Given the description of an element on the screen output the (x, y) to click on. 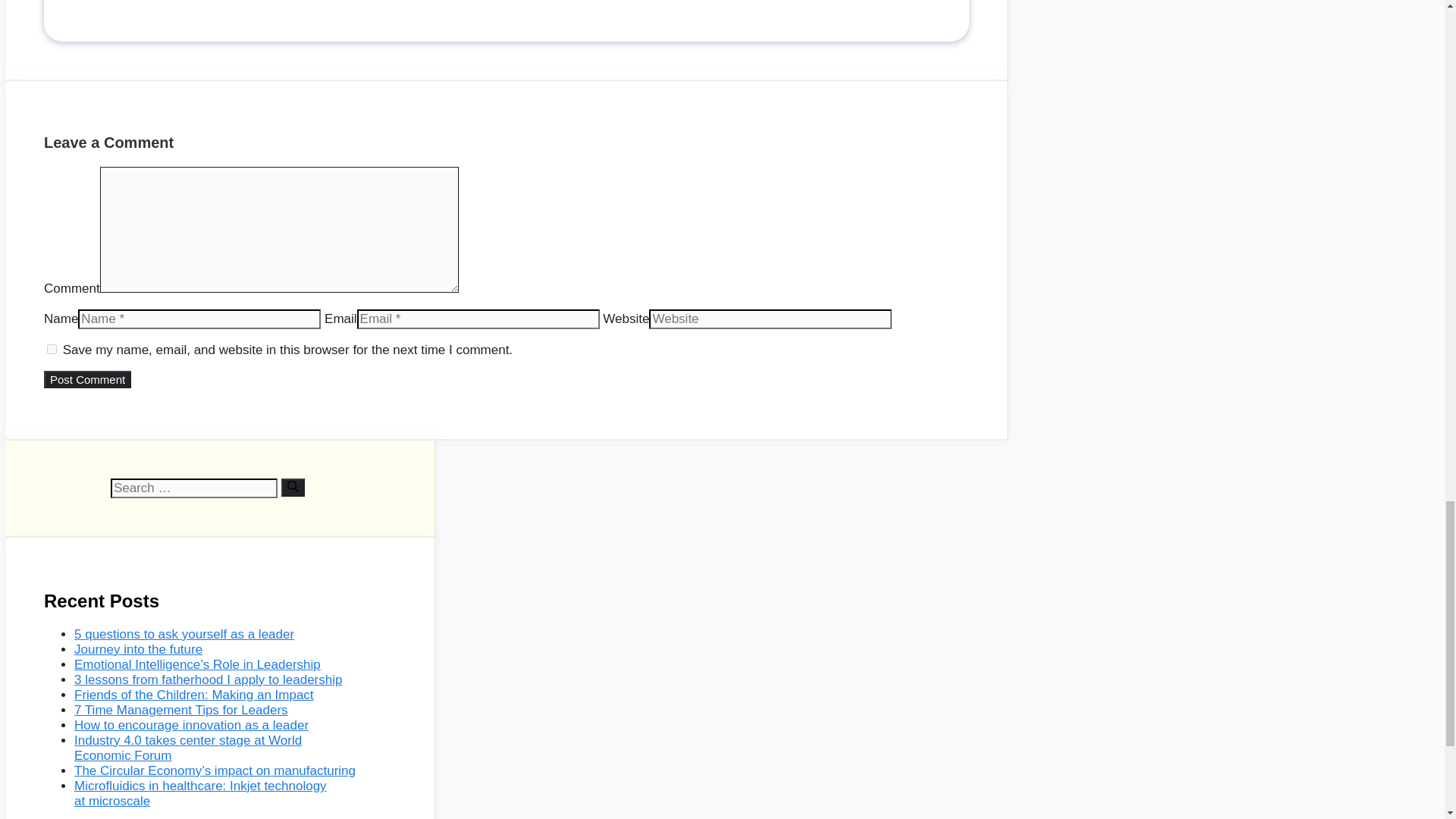
3 lessons from fatherhood I apply to leadership (208, 679)
Journey into the future (138, 649)
Microfluidics in healthcare: Inkjet technology at microscale (200, 793)
Search for: (194, 487)
7 Time Management Tips for Leaders (181, 709)
yes (51, 348)
5 questions to ask yourself as a leader (184, 634)
Friends of the Children: Making an Impact (194, 694)
Post Comment (87, 379)
Post Comment (87, 379)
How to encourage innovation as a leader (191, 725)
Industry 4.0 takes center stage at World Economic Forum (187, 747)
